Given the description of an element on the screen output the (x, y) to click on. 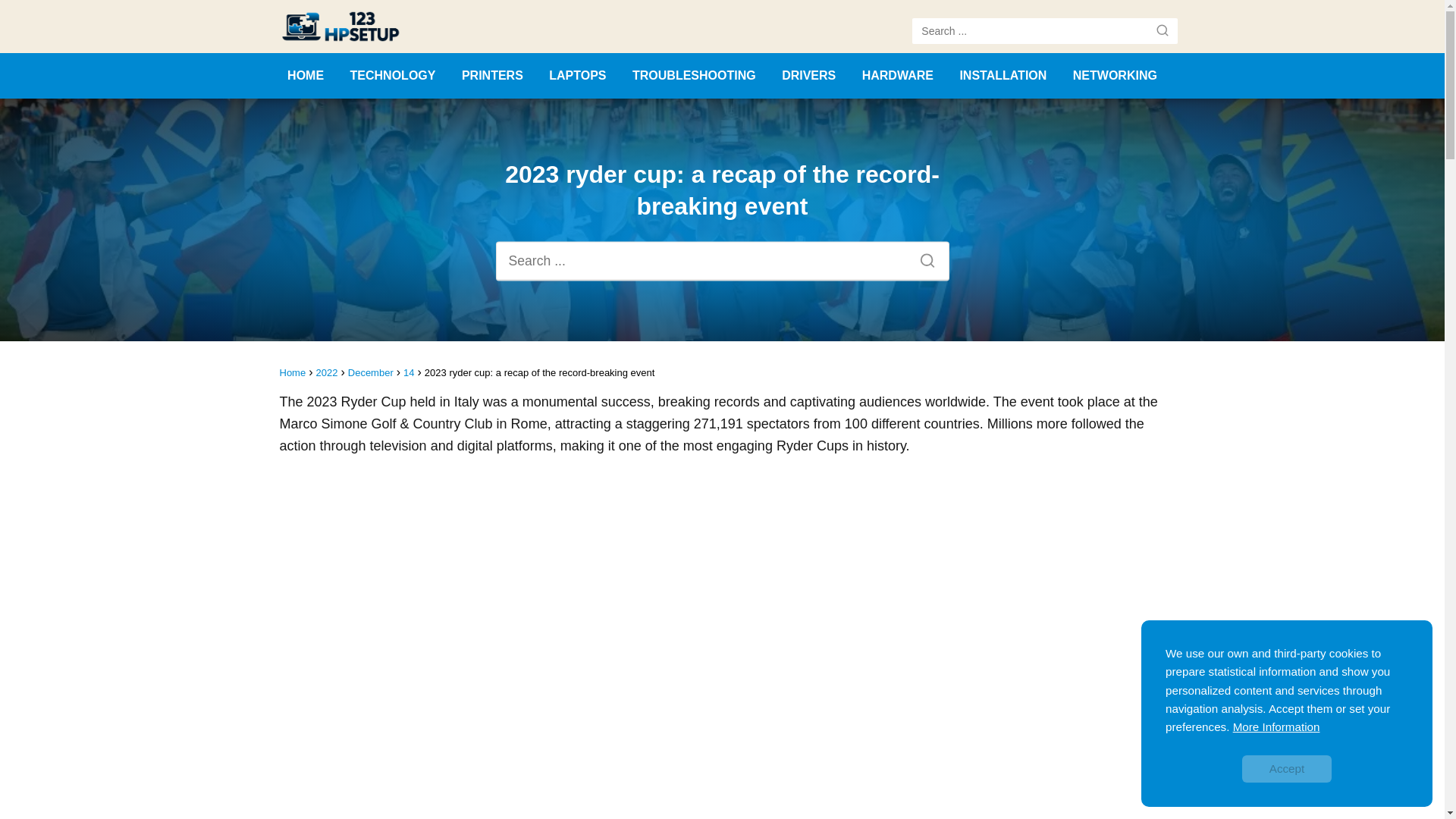
PRINTERS (491, 74)
INSTALLATION (1002, 74)
TECHNOLOGY (392, 74)
DRIVERS (808, 74)
LAPTOPS (576, 74)
Home (292, 372)
December (370, 372)
14 (408, 372)
TROUBLESHOOTING (693, 74)
